Given the description of an element on the screen output the (x, y) to click on. 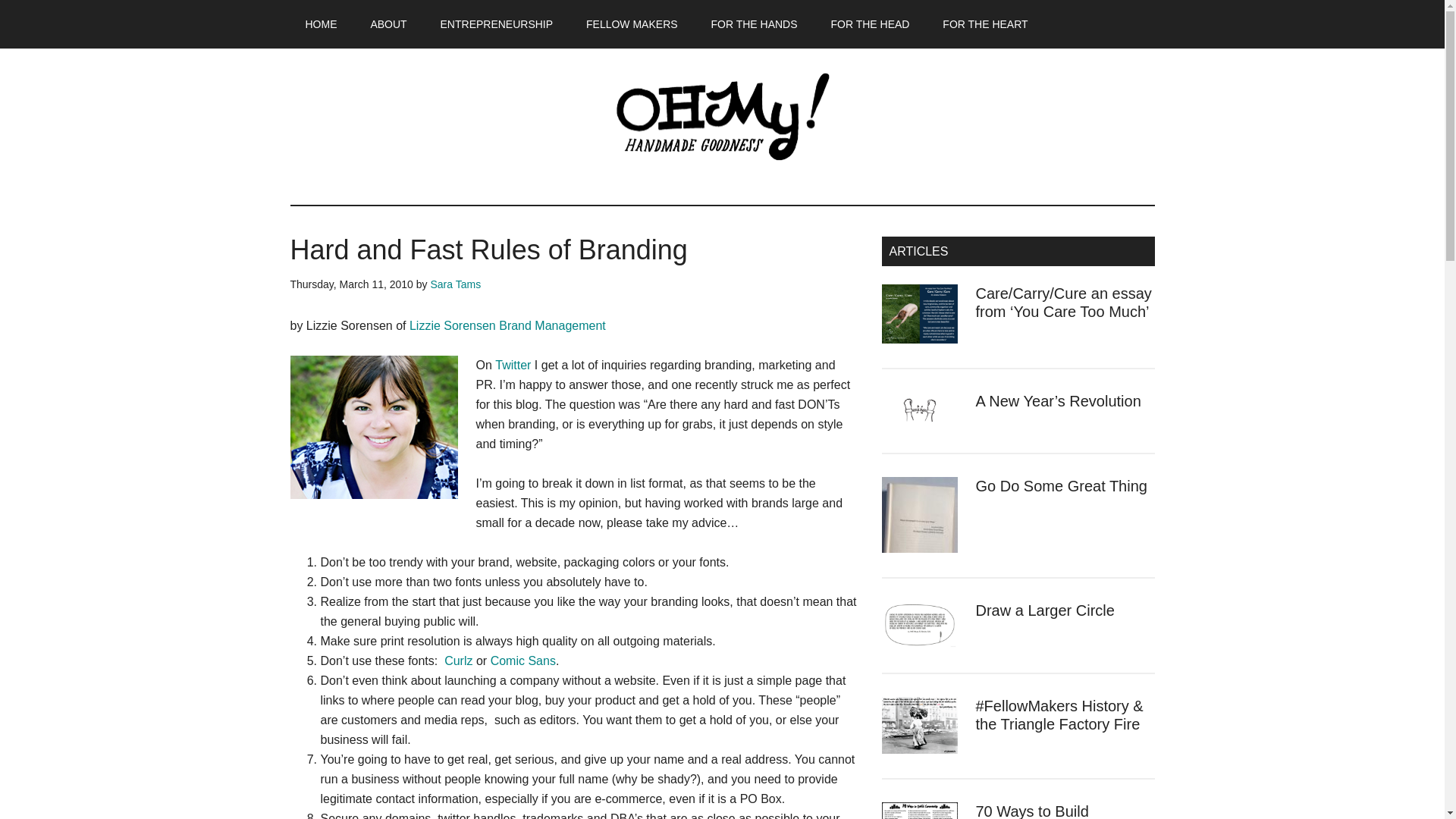
Curlz (457, 660)
HOME (320, 24)
FOR THE HEAD (869, 24)
Twitter (513, 364)
FOR THE HANDS (753, 24)
Sara Tams (454, 284)
FELLOW MAKERS (631, 24)
ENTREPRENEURSHIP (497, 24)
Comic Sans (523, 660)
